Given the description of an element on the screen output the (x, y) to click on. 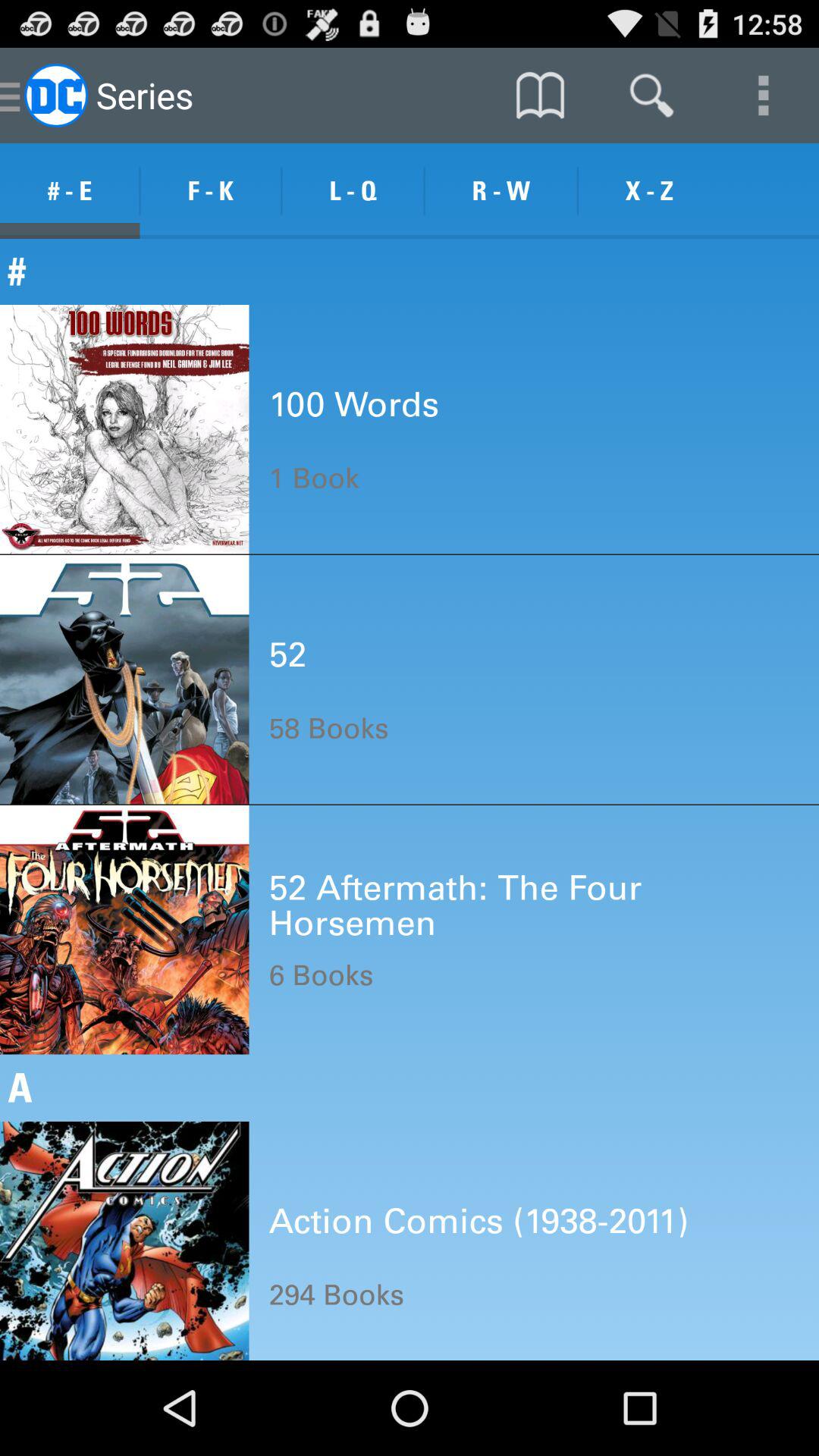
swipe until the 58 books (329, 728)
